Given the description of an element on the screen output the (x, y) to click on. 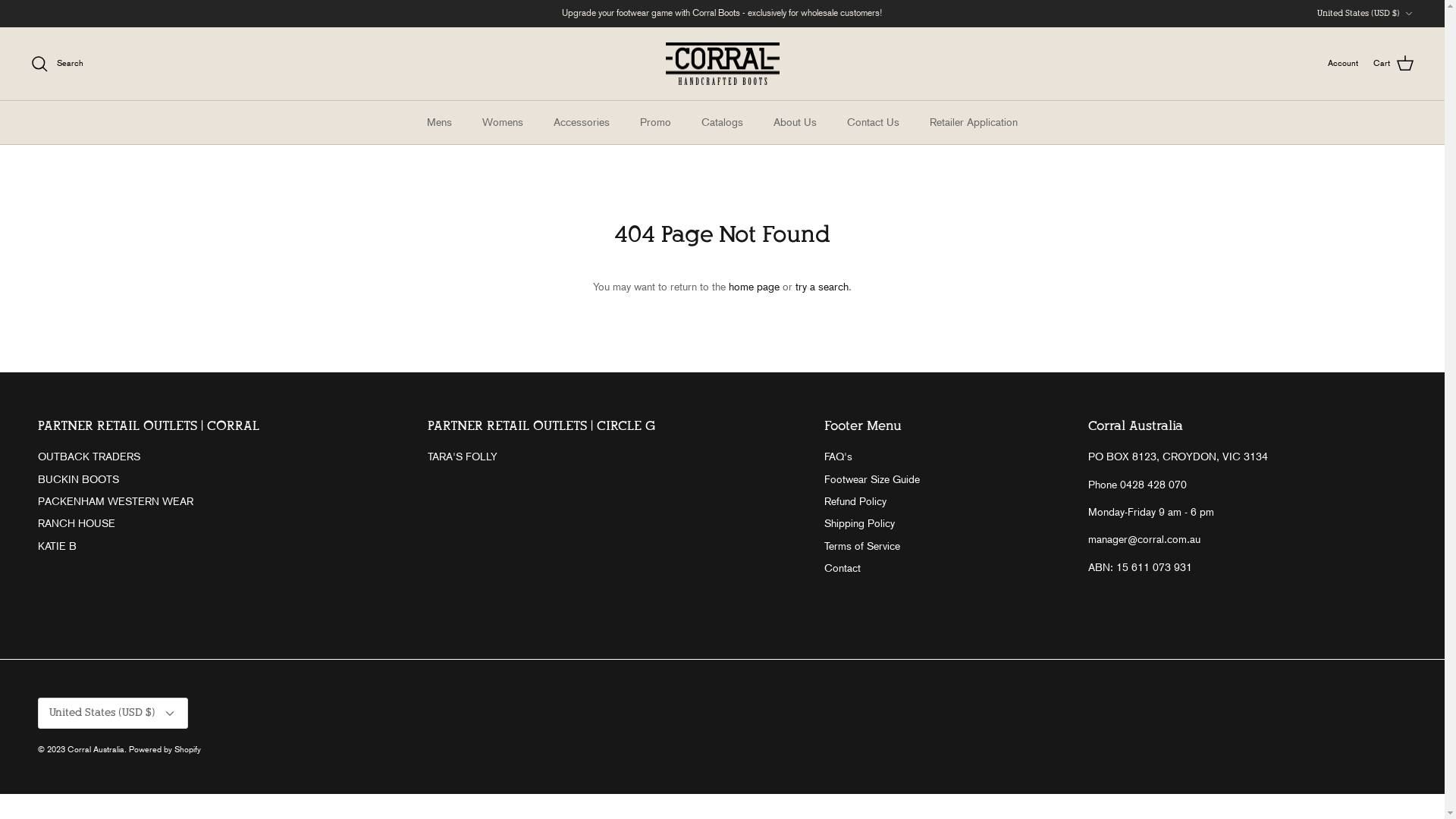
Corral Australia Element type: hover (722, 63)
United States (USD $)
Down Element type: text (1365, 13)
Catalogs Element type: text (721, 122)
Contact Element type: text (842, 567)
United States (USD $)
Down Element type: text (112, 712)
Shipping Policy Element type: text (859, 523)
Womens Element type: text (502, 122)
Promo Element type: text (655, 122)
FAQ's Element type: text (838, 456)
OUTBACK TRADERS Element type: text (88, 456)
Accessories Element type: text (581, 122)
BUCKIN BOOTS Element type: text (78, 479)
Powered by Shopify Element type: text (164, 749)
Mens Element type: text (439, 122)
PACKENHAM WESTERN WEAR Element type: text (115, 501)
KATIE B Element type: text (56, 545)
Contact Us Element type: text (873, 122)
Terms of Service Element type: text (862, 545)
try a search Element type: text (821, 286)
About Us Element type: text (794, 122)
RANCH HOUSE Element type: text (76, 523)
Refund Policy Element type: text (855, 501)
TARA'S FOLLY Element type: text (462, 456)
home page Element type: text (753, 286)
Footwear Size Guide Element type: text (871, 479)
Cart Element type: text (1393, 63)
Account Element type: text (1342, 63)
Corral Australia Element type: text (95, 749)
Search Element type: text (56, 63)
Retailer Application Element type: text (973, 122)
